Given the description of an element on the screen output the (x, y) to click on. 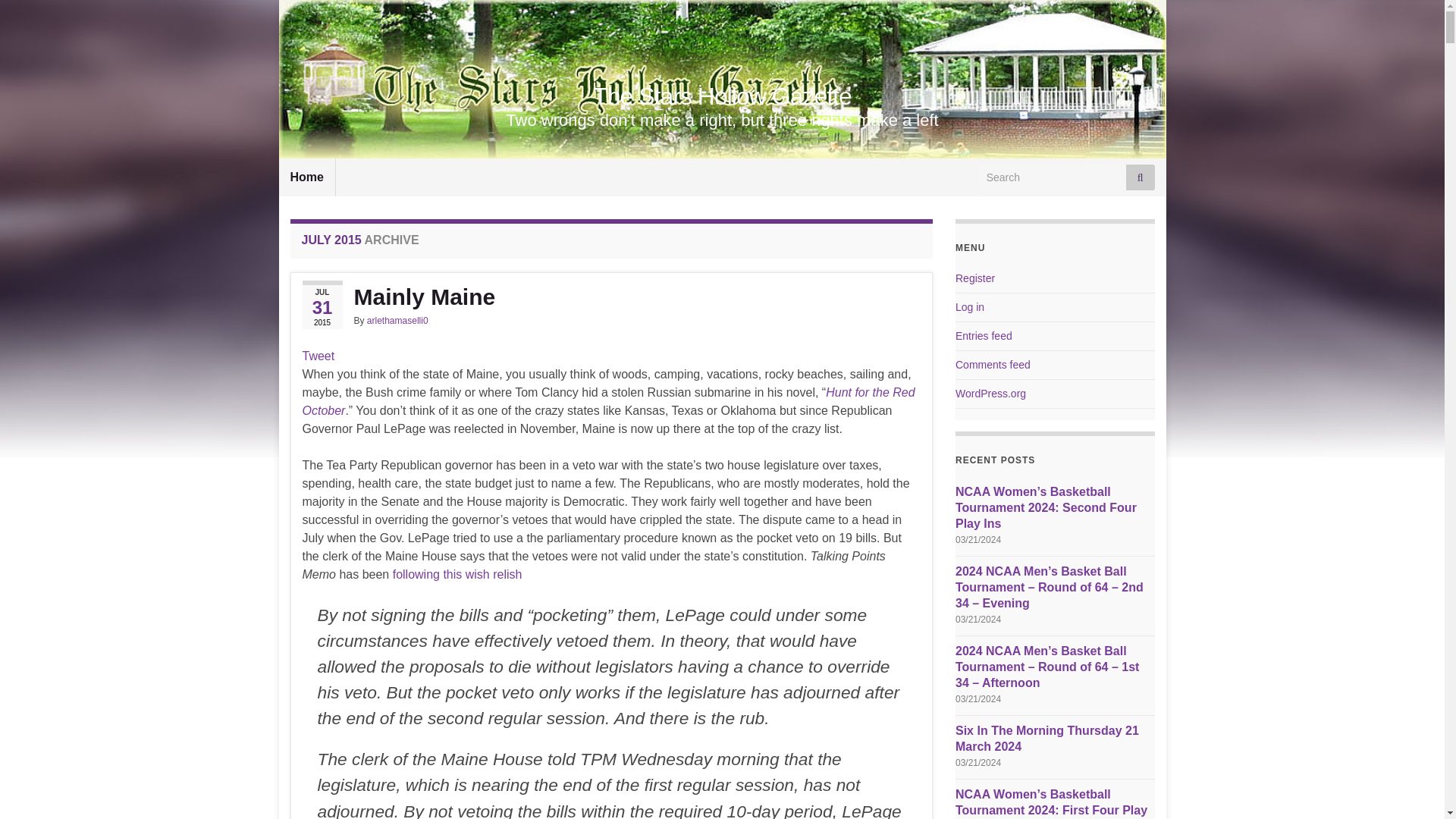
Permalink to Mainly Maine (610, 297)
Go back to the front page (721, 95)
following this wish relish (457, 574)
The Stars Hollow Gazette (721, 95)
Tweet (317, 355)
arlethamaselli0 (397, 320)
Home (306, 177)
Hunt for the Red October (607, 400)
Mainly Maine (610, 297)
